Given the description of an element on the screen output the (x, y) to click on. 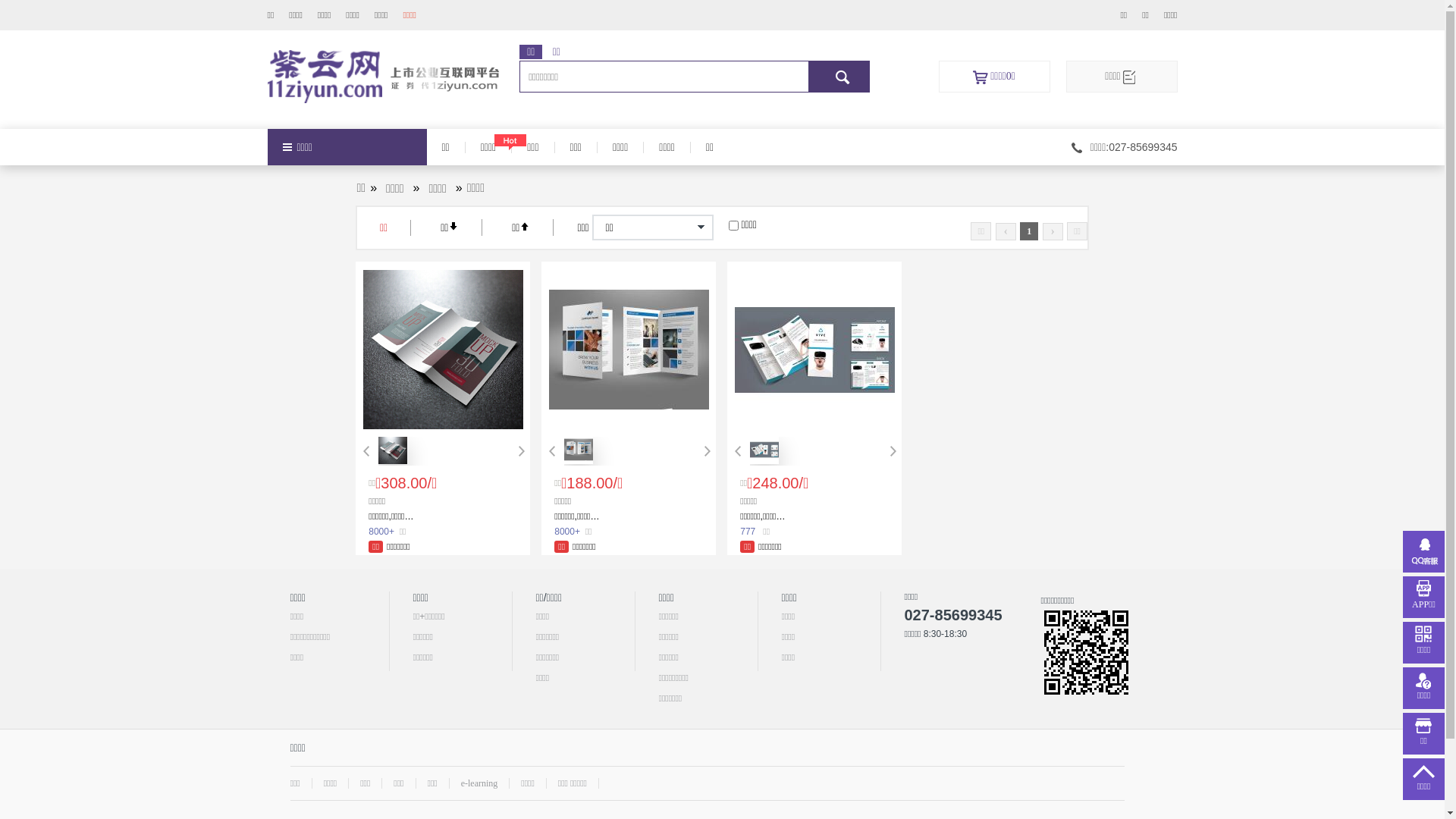
e-learning Element type: text (479, 783)
> Element type: text (763, 458)
> Element type: text (578, 458)
J Element type: text (838, 76)
1 Element type: text (1028, 231)
> Element type: text (392, 458)
